Given the description of an element on the screen output the (x, y) to click on. 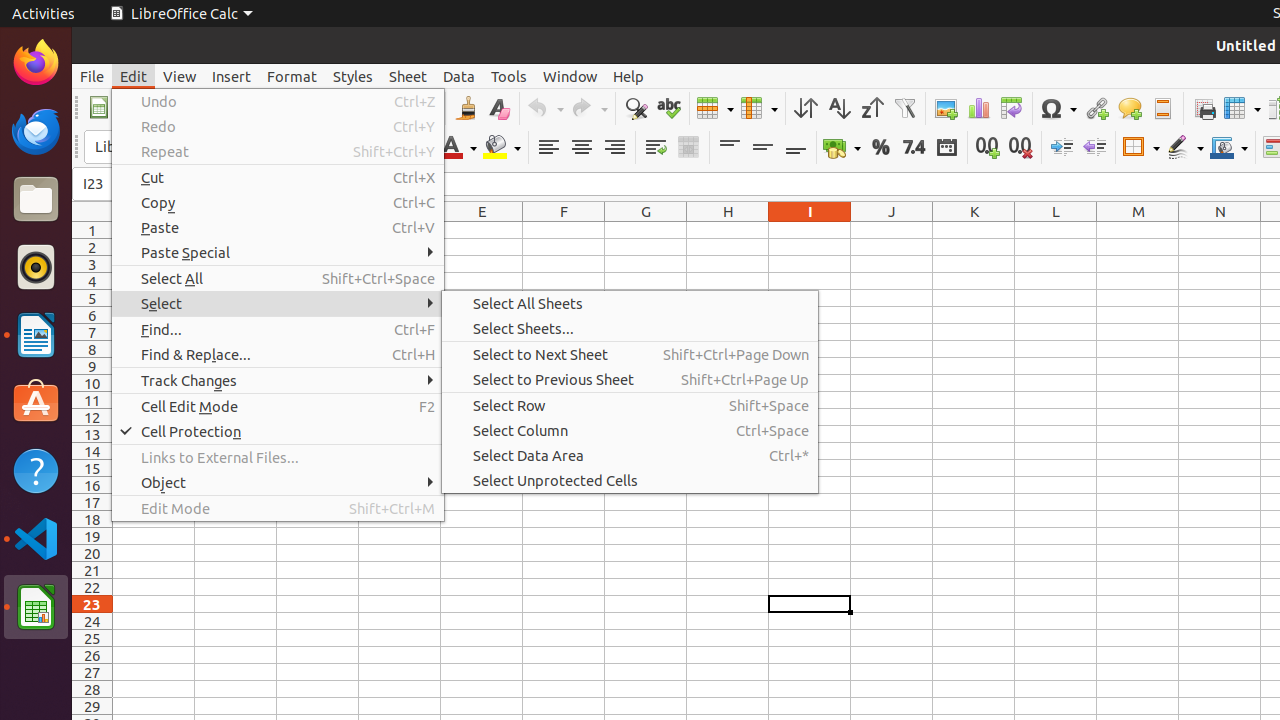
J1 Element type: table-cell (892, 230)
Headers and Footers Element type: push-button (1162, 108)
Find... Element type: menu-item (278, 329)
Select to Previous Sheet Element type: menu-item (630, 379)
Add Decimal Place Element type: push-button (987, 147)
